Given the description of an element on the screen output the (x, y) to click on. 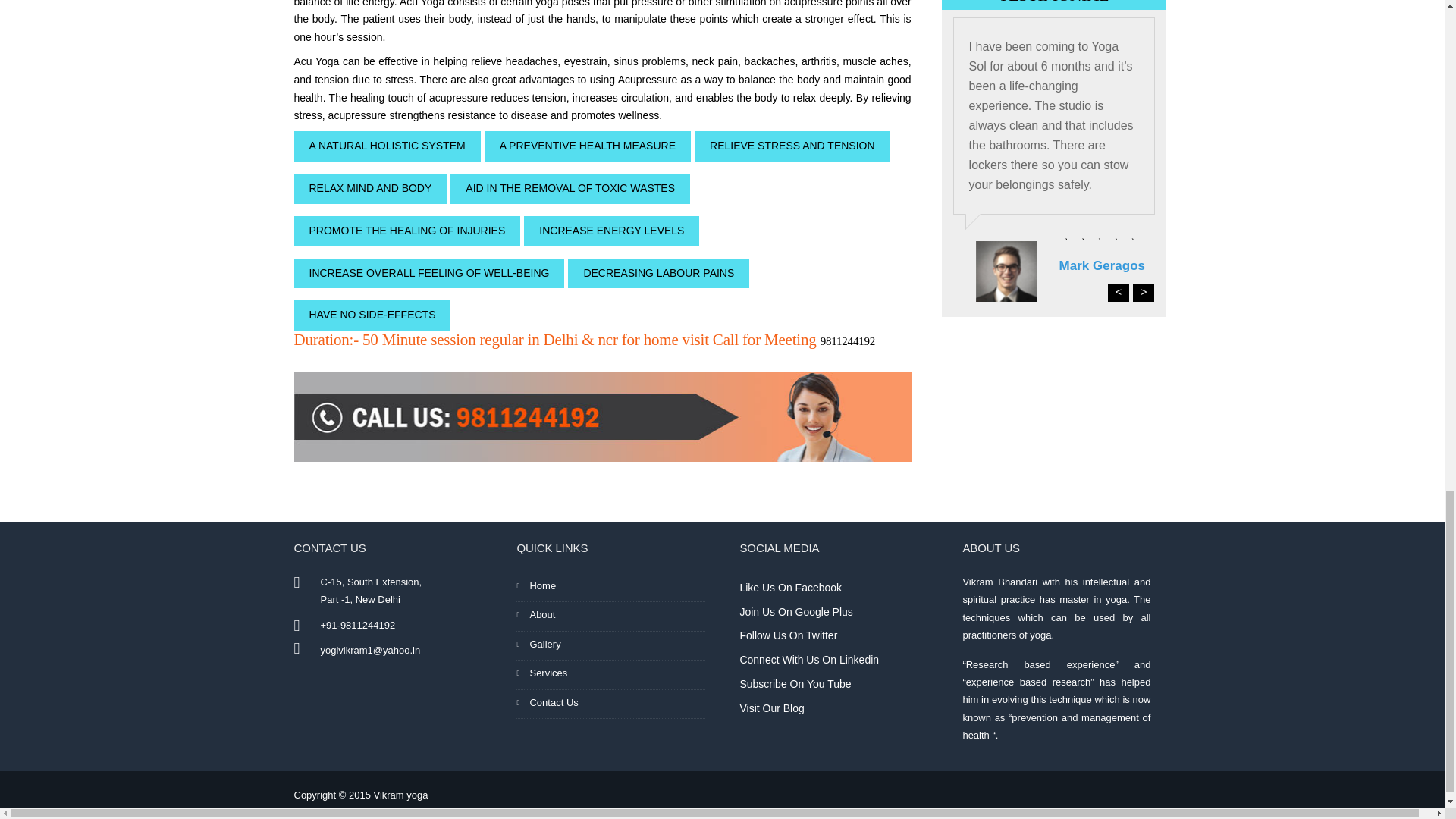
gorgeous (1131, 235)
gorgeous (1115, 235)
gorgeous (1082, 235)
gorgeous (1098, 235)
gorgeous (1066, 235)
gorgeous (1053, 235)
